Given the description of an element on the screen output the (x, y) to click on. 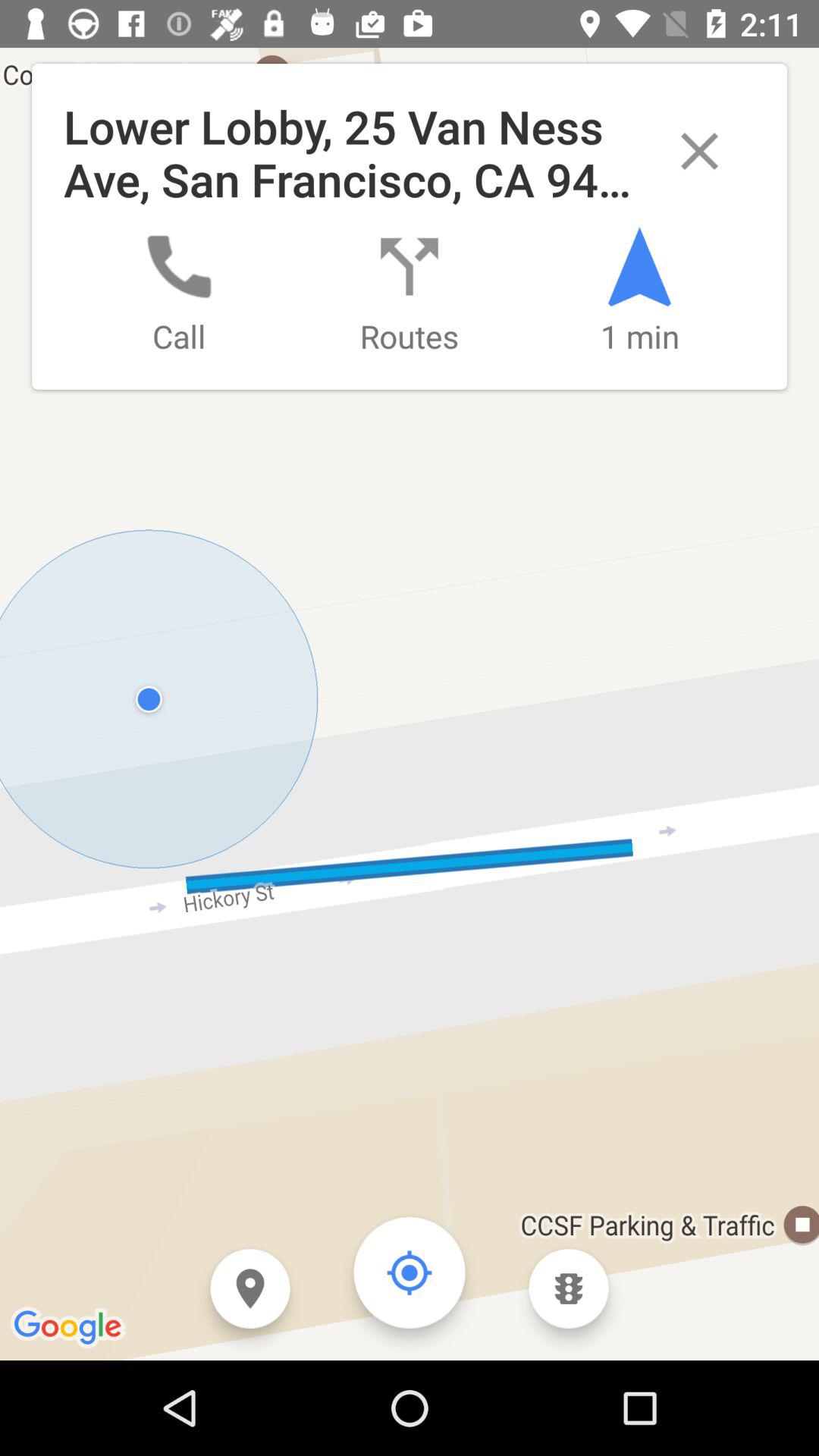
traffic (568, 1288)
